Given the description of an element on the screen output the (x, y) to click on. 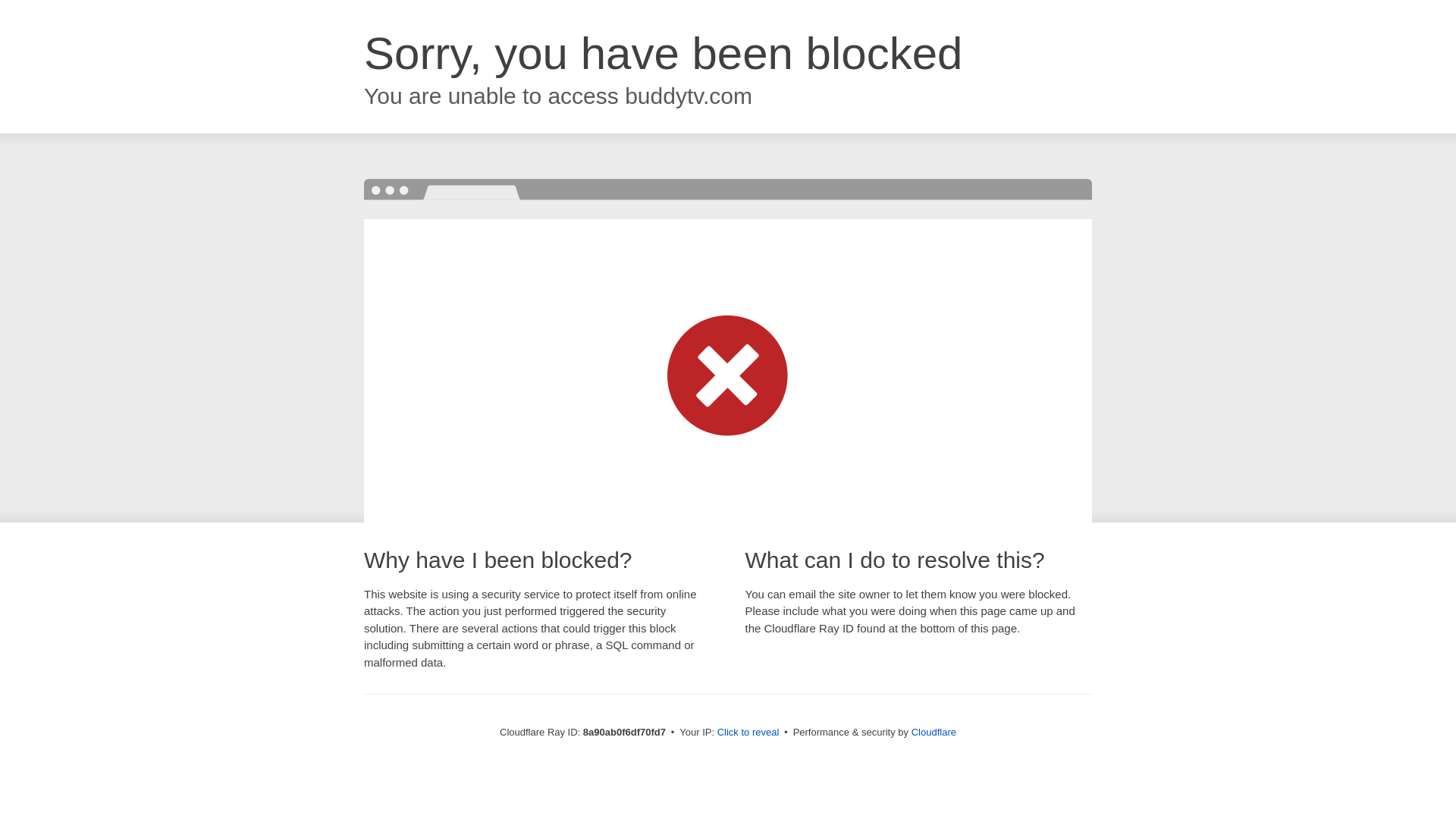
Click to reveal (747, 732)
Cloudflare (933, 731)
